Given the description of an element on the screen output the (x, y) to click on. 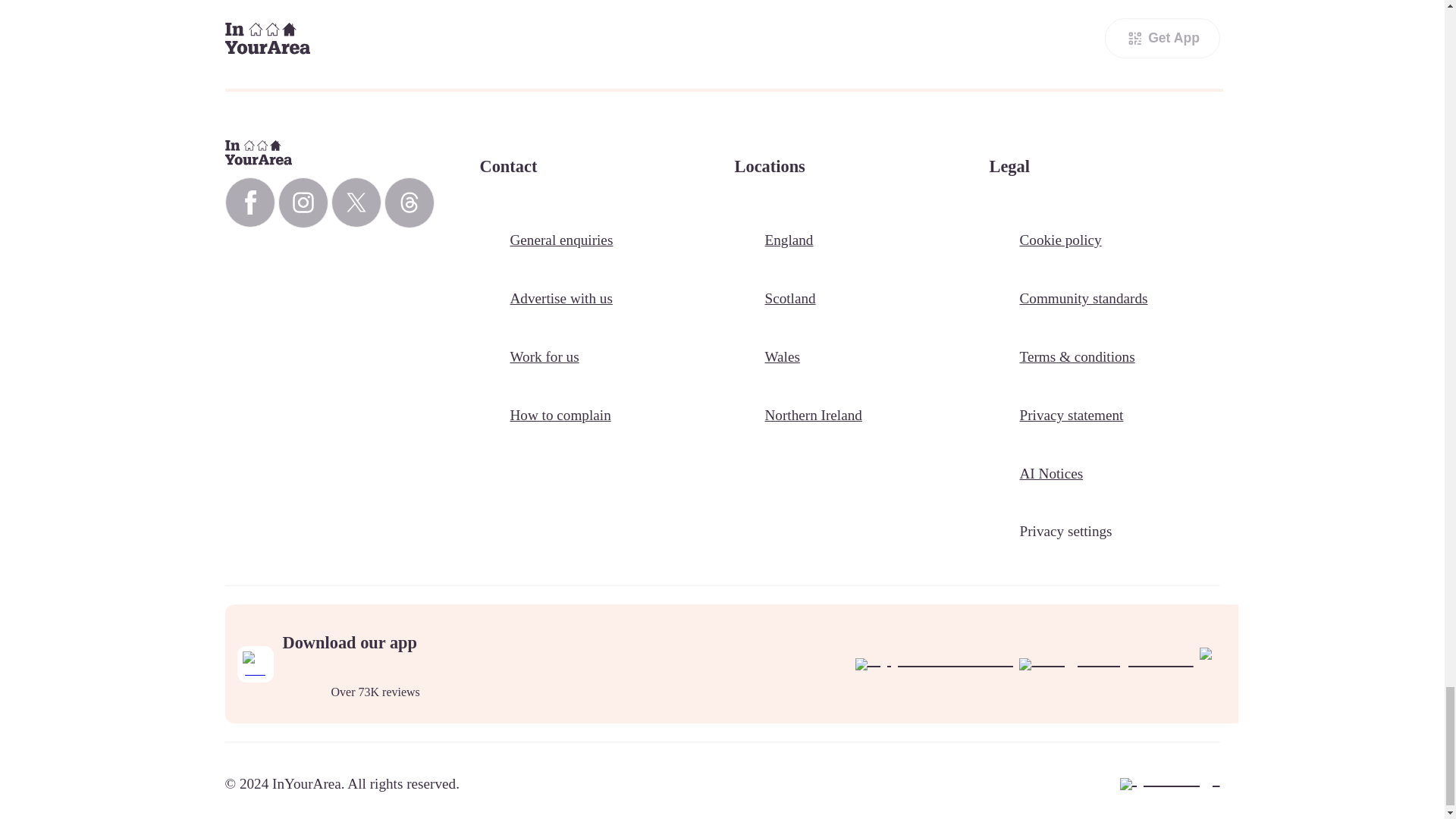
InYourArea Threads (408, 203)
InYourArea Instagram (302, 203)
InYourArea Facebook (249, 202)
InYourArea X (355, 202)
